Given the description of an element on the screen output the (x, y) to click on. 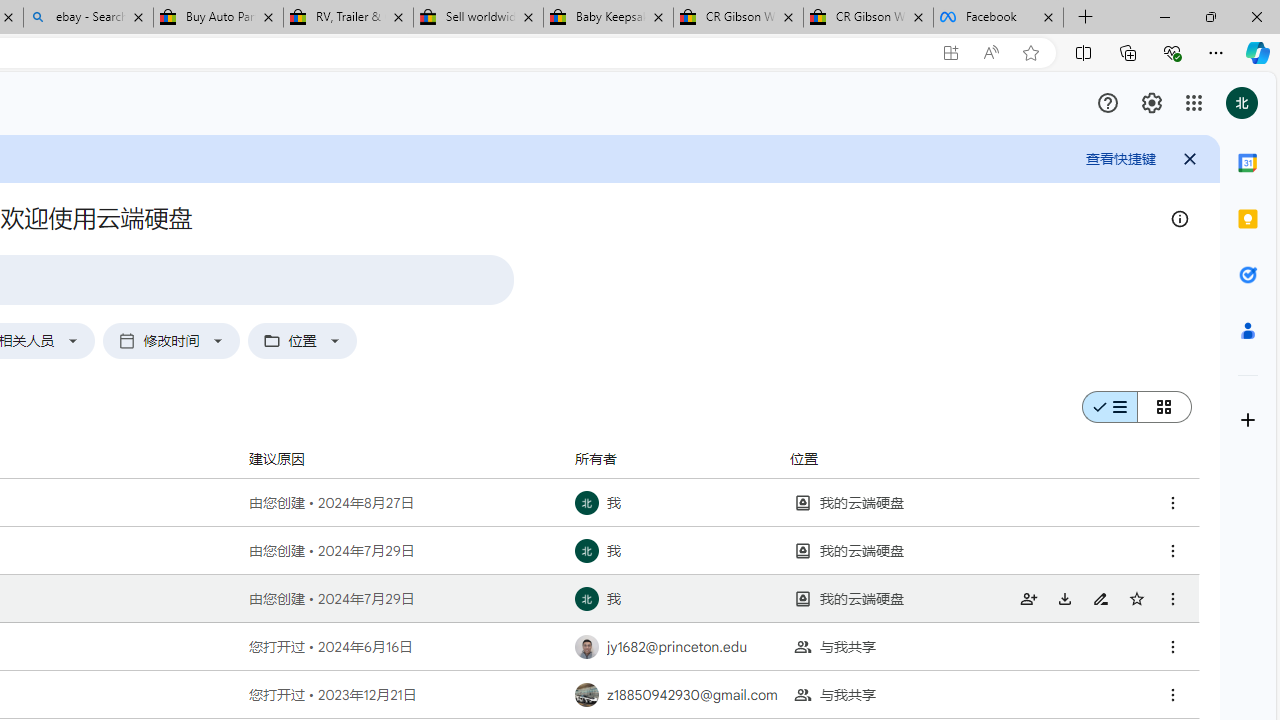
Class: f8nwhd-qb23S-kBDsod f8nwhd-qb23S-b9nz9e-Rd (1154, 407)
